Given the description of an element on the screen output the (x, y) to click on. 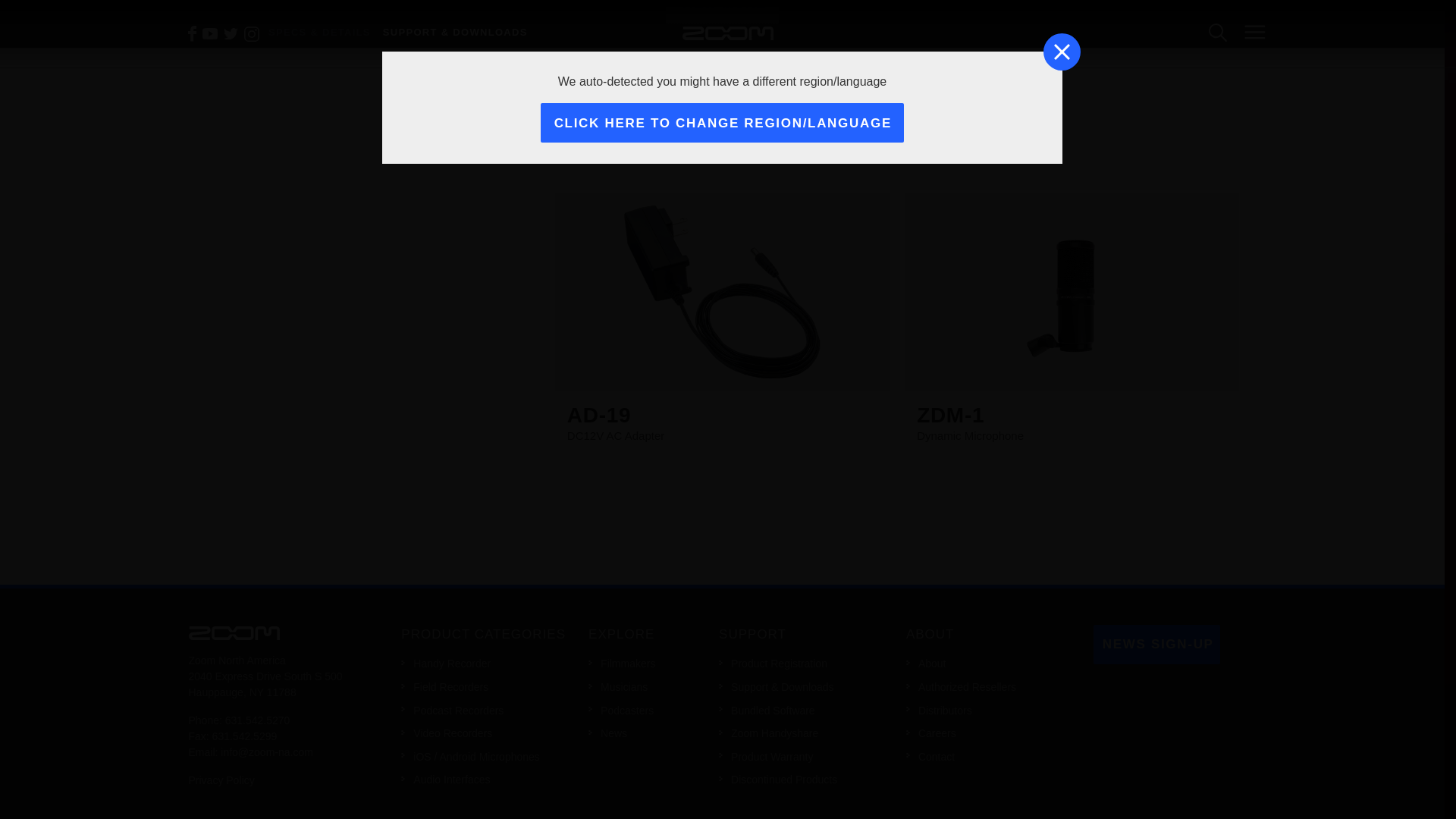
Home (233, 632)
